Given the description of an element on the screen output the (x, y) to click on. 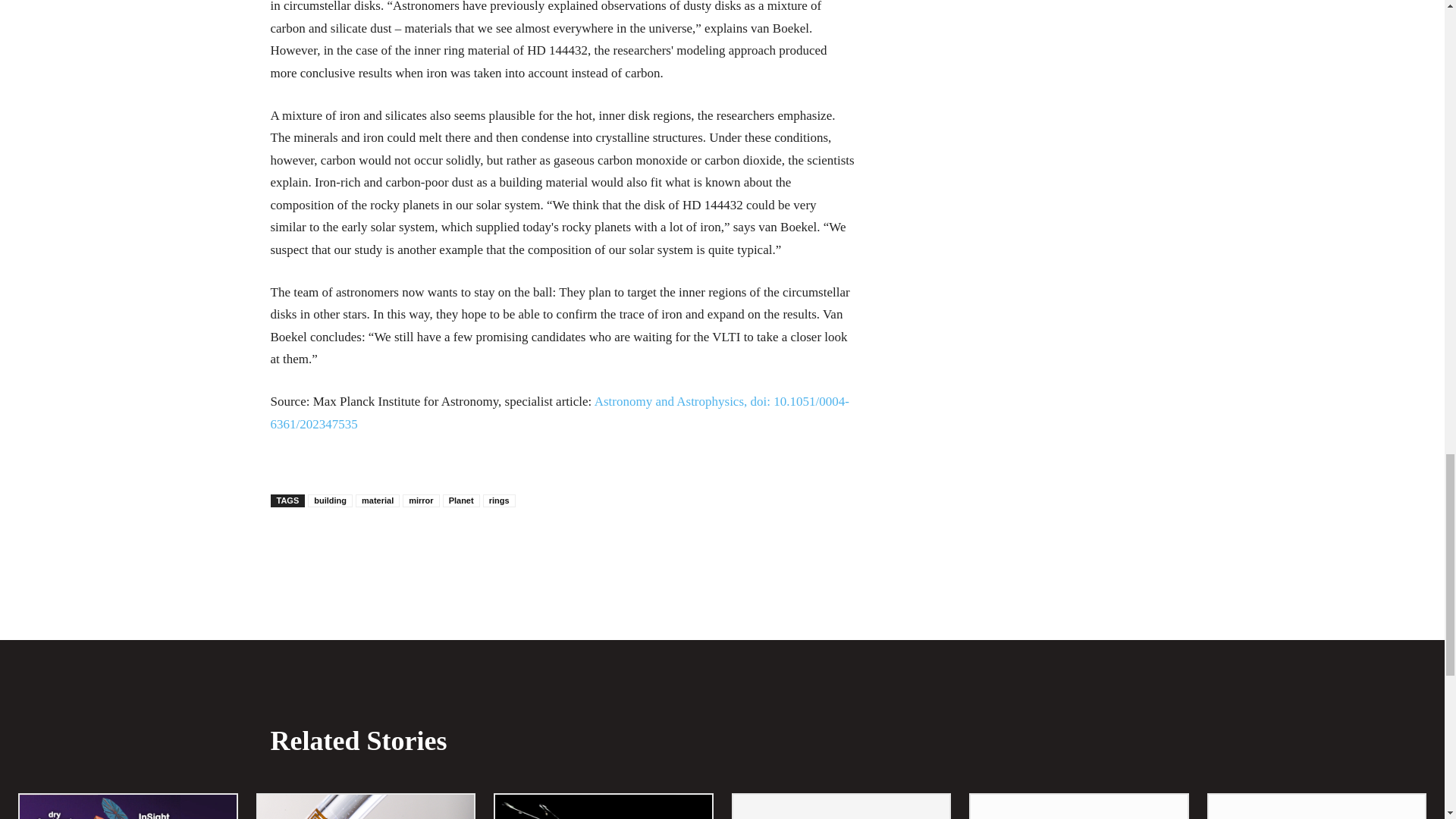
Liquid water in the Martian crust? (127, 806)
Using blood thinners against cobra bites (603, 806)
Nerves of gold (365, 806)
Planet with highly eccentric orbit discovered (840, 806)
